Given the description of an element on the screen output the (x, y) to click on. 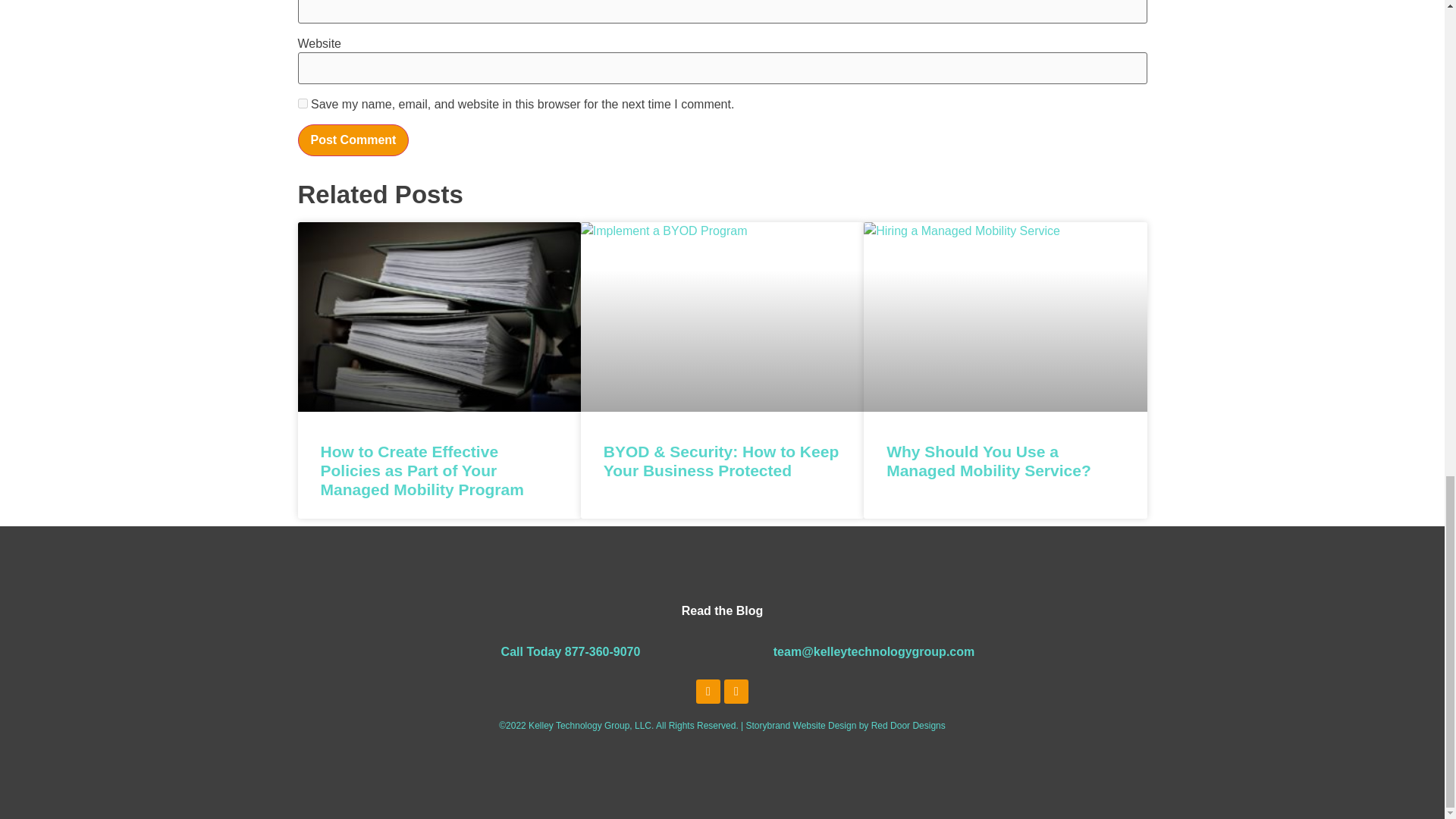
Storybrand Website Design by Red Door Designs (844, 725)
Why Should You Use a Managed Mobility Service? (988, 461)
Read the Blog (721, 610)
yes (302, 103)
Post Comment (353, 140)
Post Comment (353, 140)
